Given the description of an element on the screen output the (x, y) to click on. 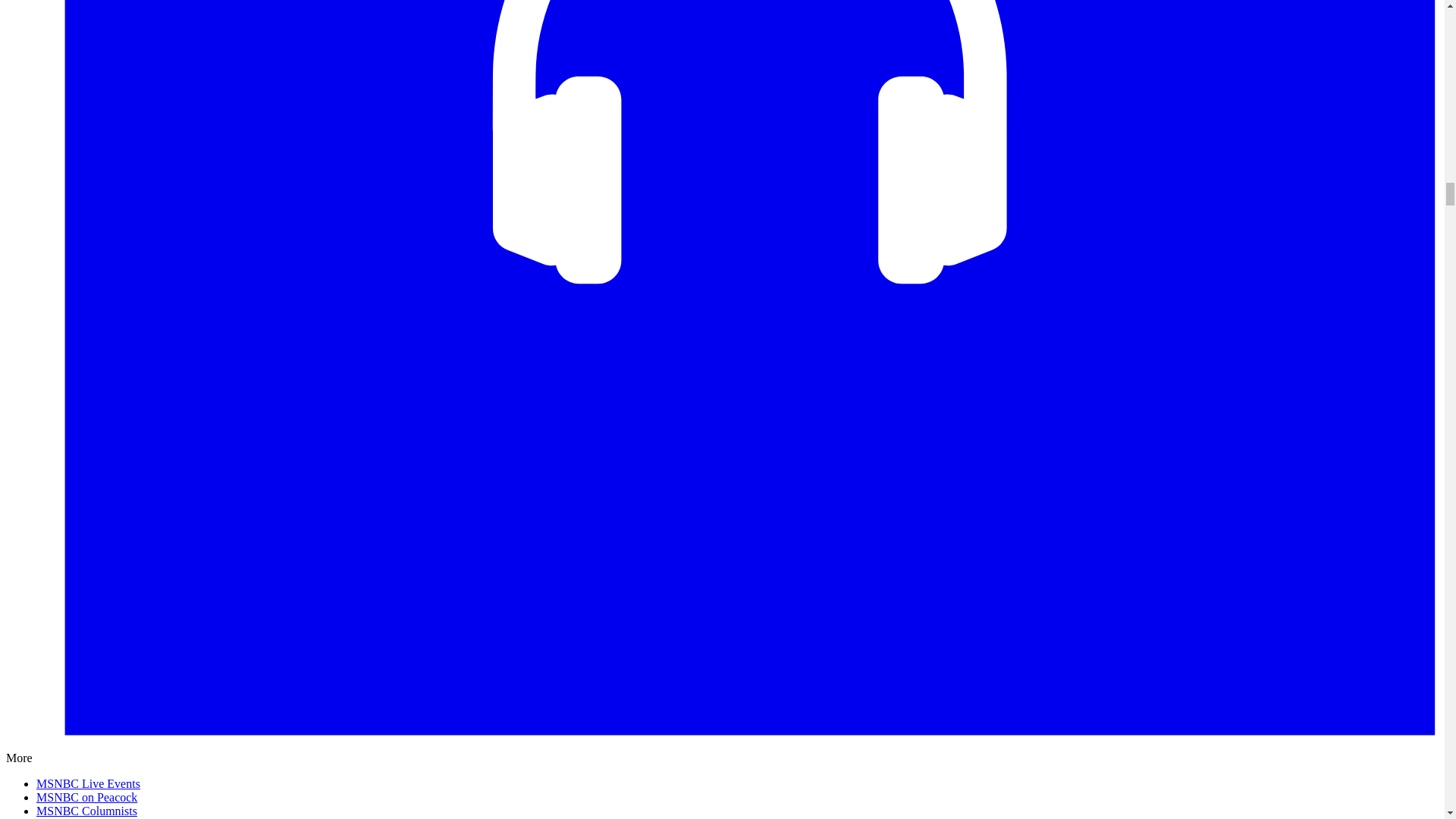
MSNBC Live Events (87, 783)
MSNBC on Peacock (86, 797)
